Given the description of an element on the screen output the (x, y) to click on. 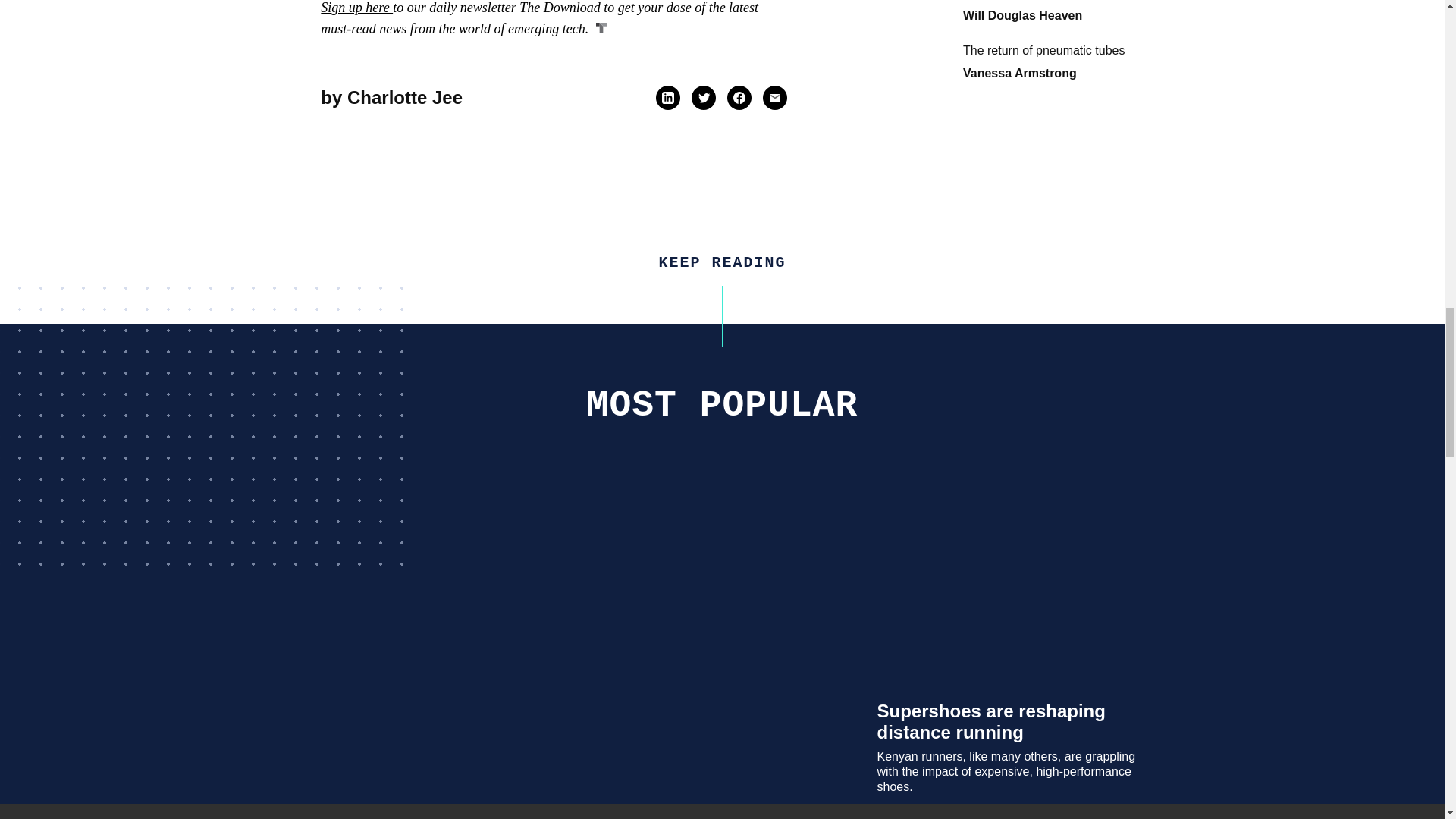
Share story on email (774, 97)
Charlotte Jee (405, 96)
Share story on linkedin (668, 97)
Sign up here  (356, 7)
Share story on facebook (739, 97)
Share story on twitter (703, 97)
